Given the description of an element on the screen output the (x, y) to click on. 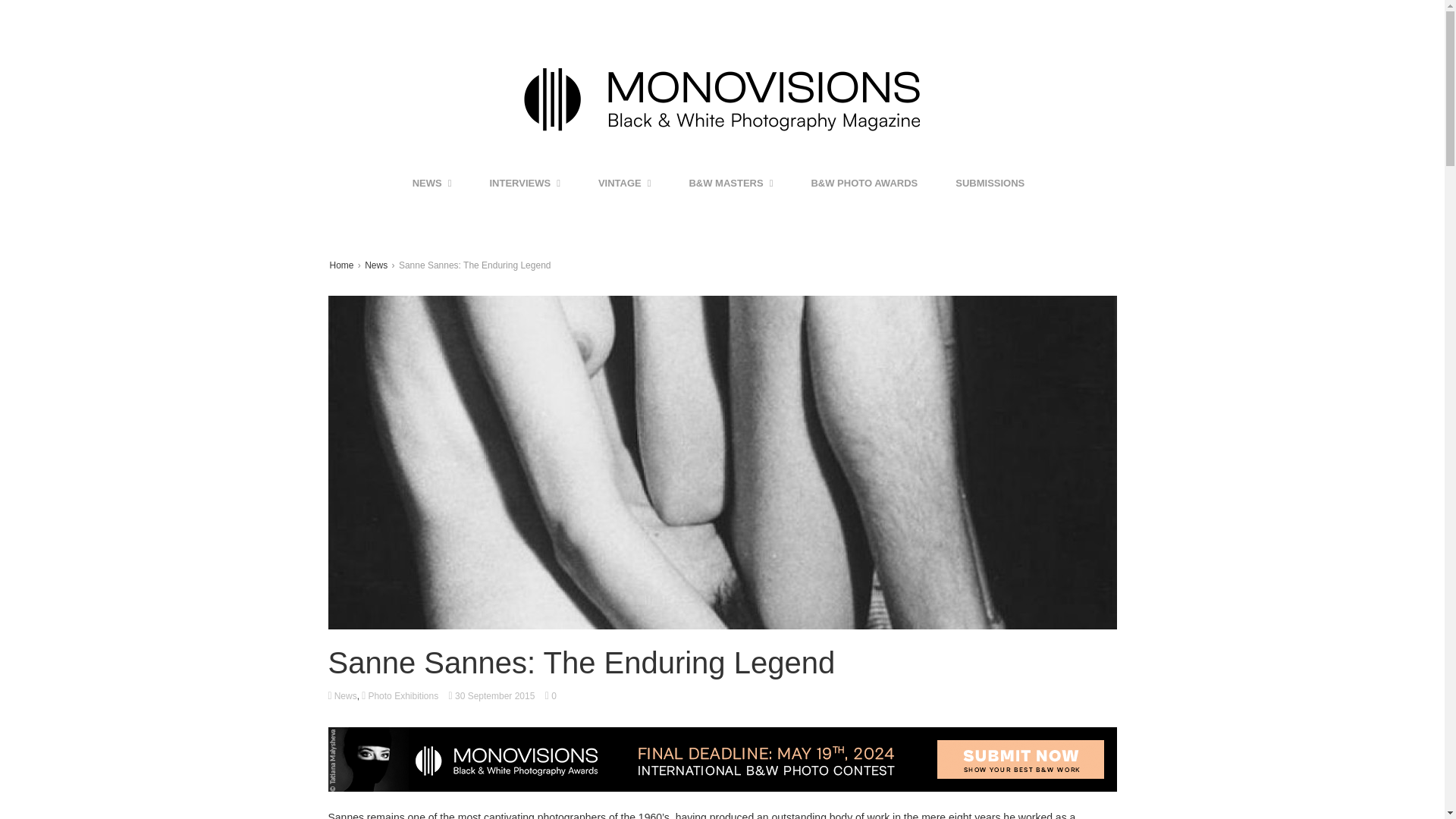
INTERVIEWS (524, 183)
VINTAGE (624, 183)
NEWS (432, 183)
